Given the description of an element on the screen output the (x, y) to click on. 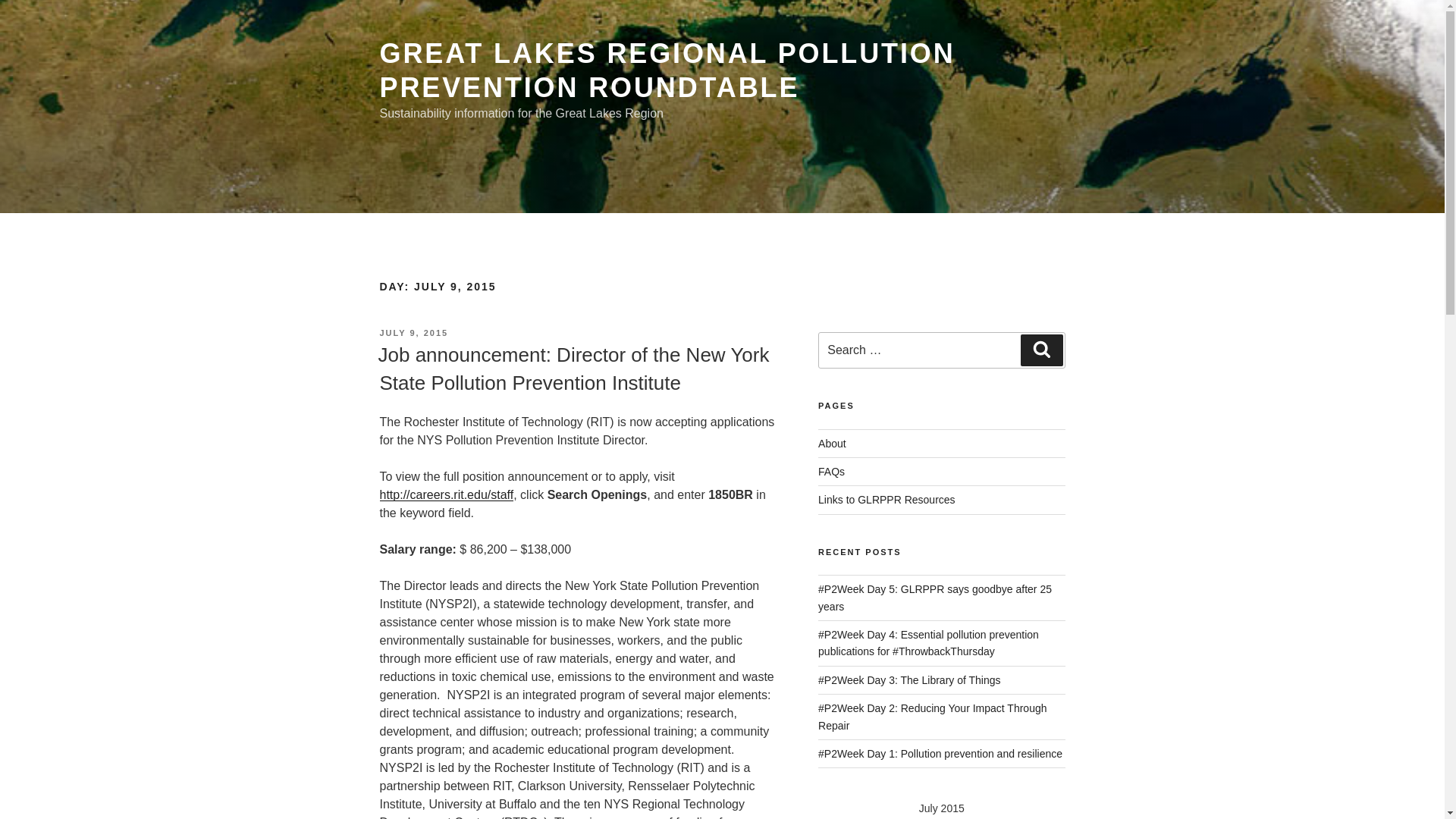
About (831, 443)
Saturday (1051, 818)
Monday (872, 818)
JULY 9, 2015 (413, 332)
Tuesday (909, 818)
Wednesday (945, 818)
Links to GLRPPR Resources (886, 499)
GREAT LAKES REGIONAL POLLUTION PREVENTION ROUNDTABLE (666, 70)
Friday (1019, 818)
Search (1041, 350)
FAQs (831, 471)
Sunday (836, 818)
Thursday (982, 818)
